Given the description of an element on the screen output the (x, y) to click on. 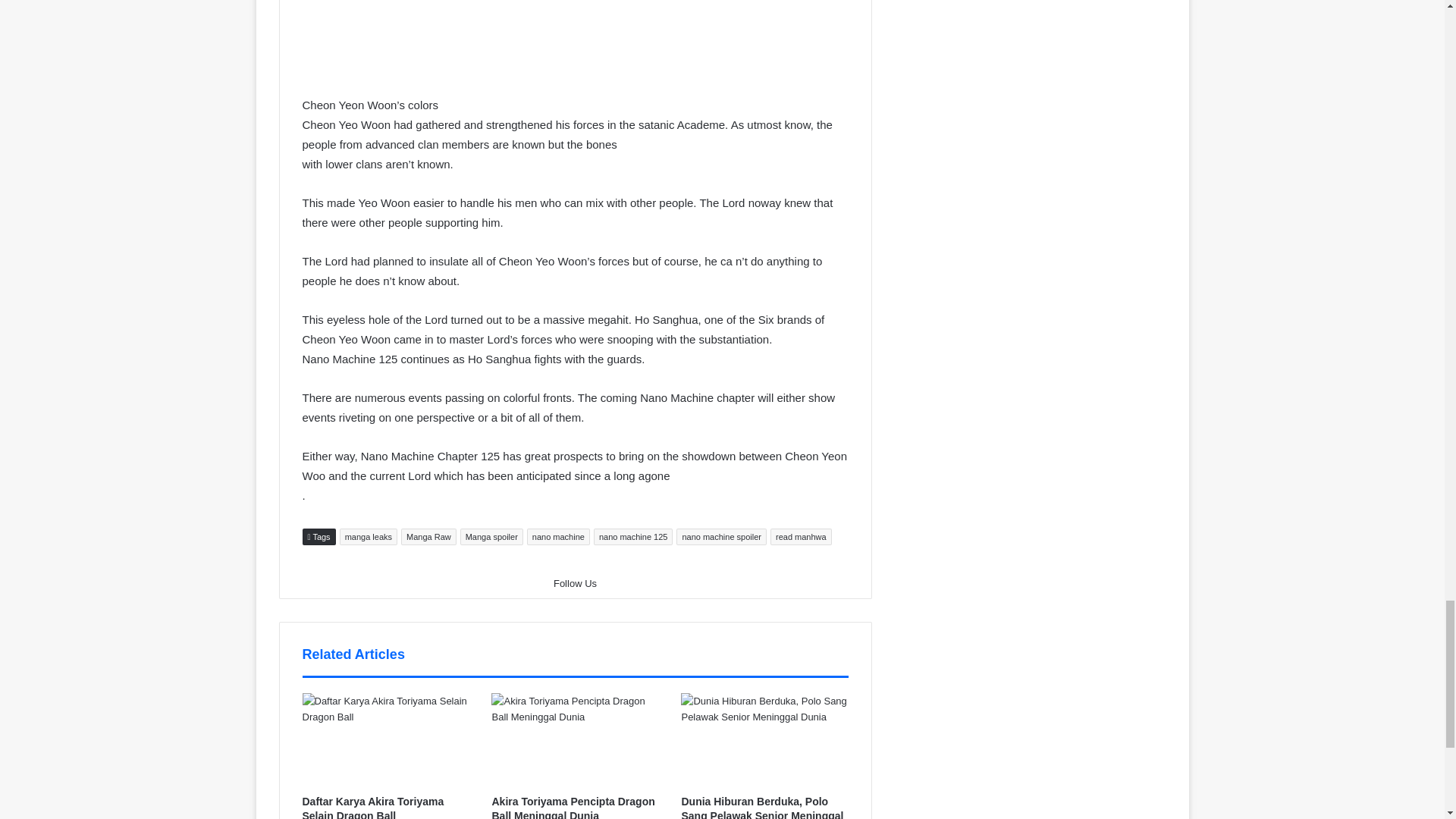
Manga spoiler (491, 536)
manga leaks (368, 536)
nano machine (558, 536)
Akira Toriyama Pencipta Dragon Ball Meninggal Dunia (575, 739)
nano machine spoiler (722, 536)
read manhwa (800, 536)
Daftar Karya Akira Toriyama Selain Dragon Ball (384, 739)
Akira Toriyama Pencipta Dragon Ball Meninggal Dunia (572, 807)
nano machine 125 (633, 536)
